Given the description of an element on the screen output the (x, y) to click on. 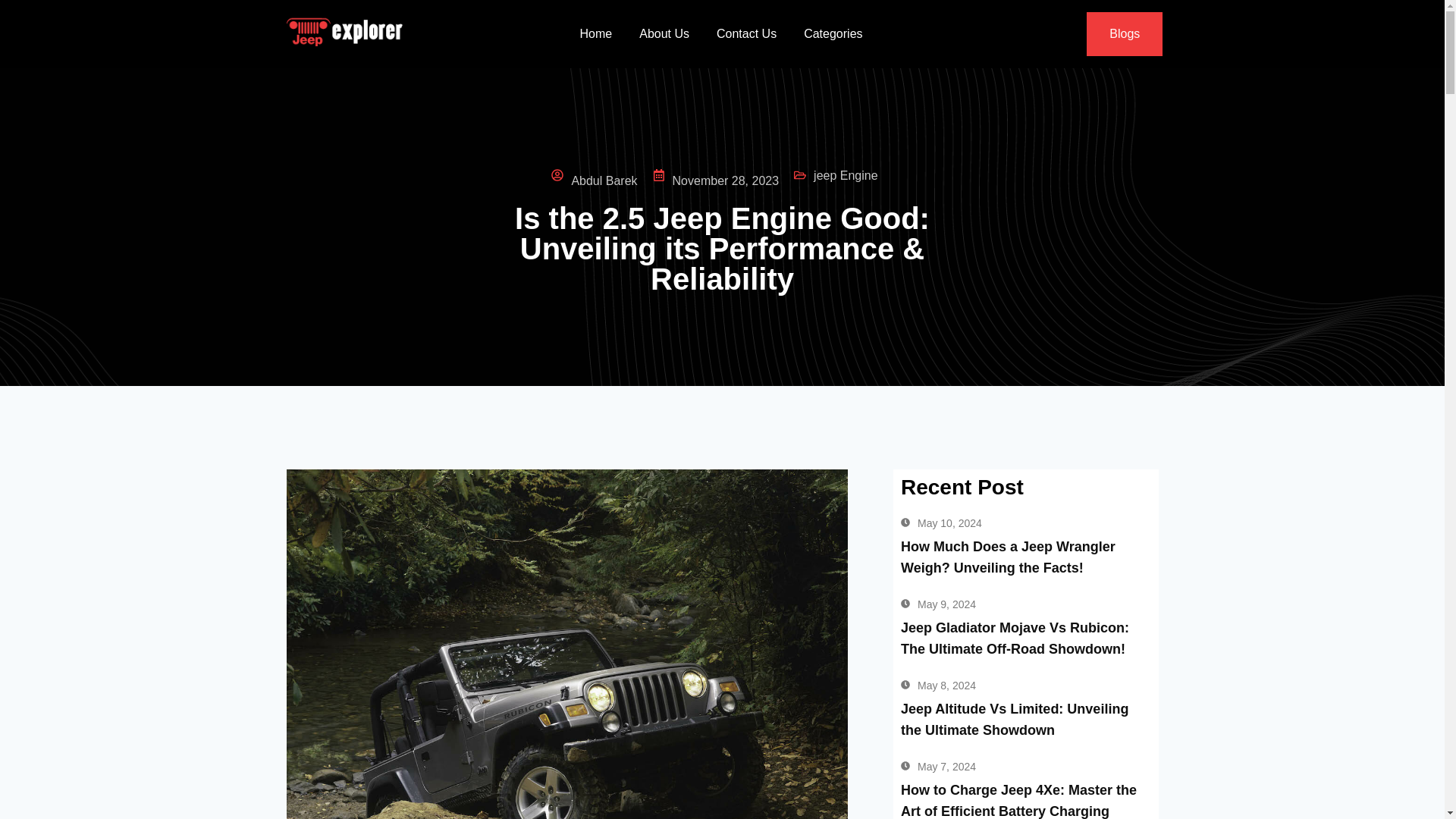
About Us (664, 33)
Blogs (1123, 34)
Contact Us (746, 33)
Categories (833, 33)
